Given the description of an element on the screen output the (x, y) to click on. 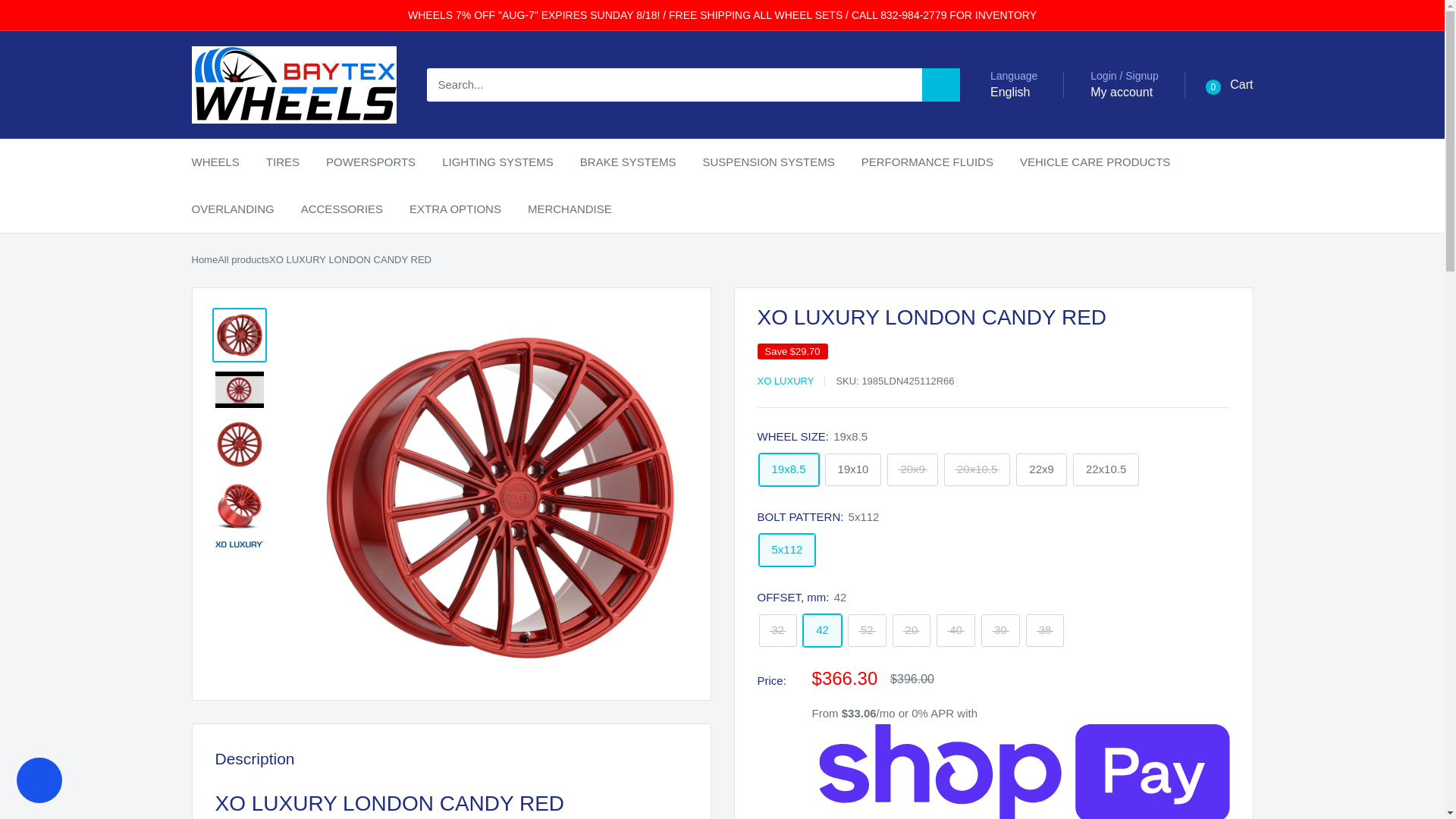
30 (1000, 630)
22x9 (1041, 469)
38 (1045, 630)
42 (822, 630)
32 (777, 630)
5x112 (786, 549)
22x10.5 (1105, 469)
20 (911, 630)
19x10 (853, 469)
40 (955, 630)
